Given the description of an element on the screen output the (x, y) to click on. 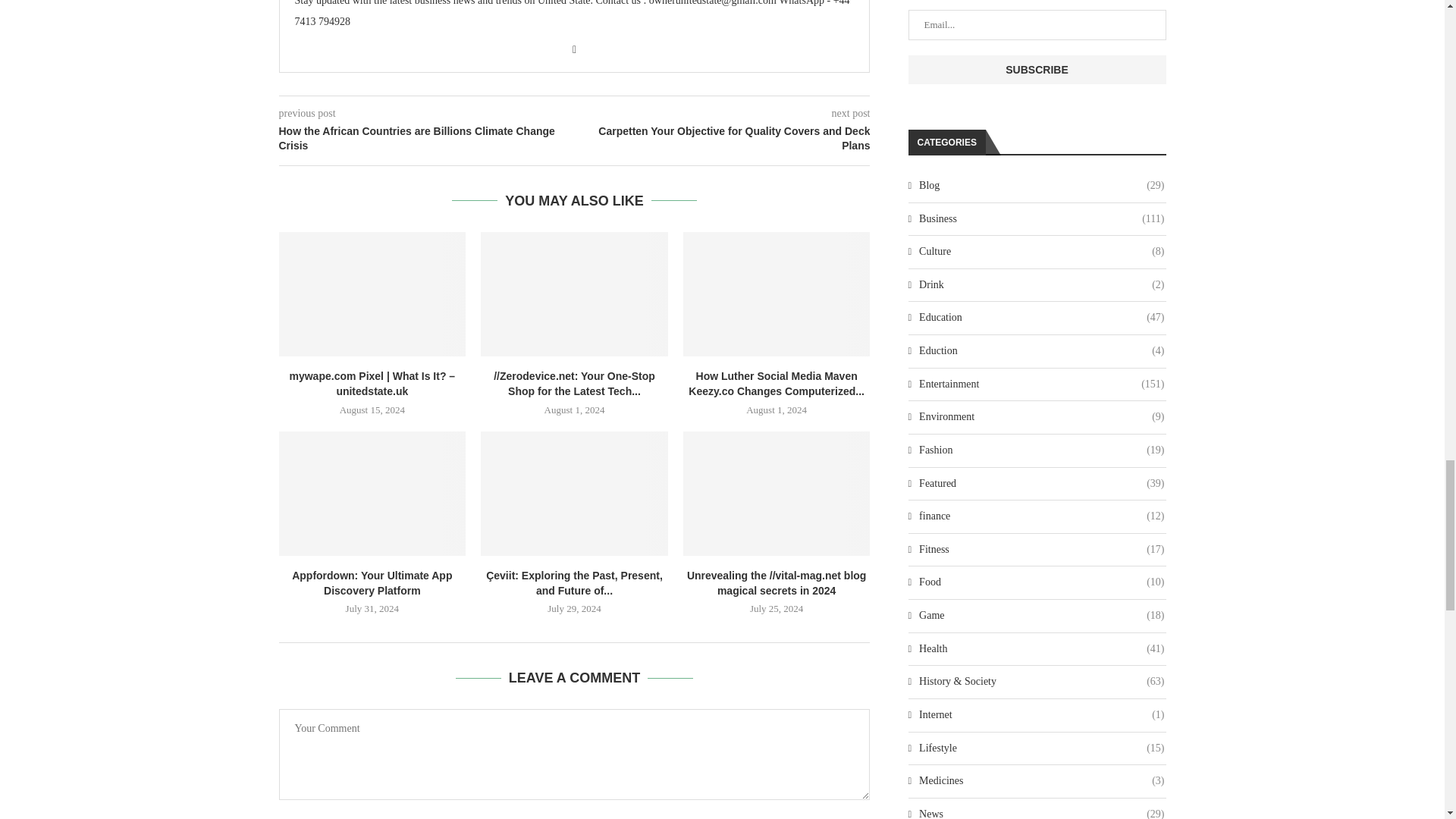
Subscribe (1037, 69)
Appfordown: Your Ultimate App Discovery Platform (372, 492)
